Given the description of an element on the screen output the (x, y) to click on. 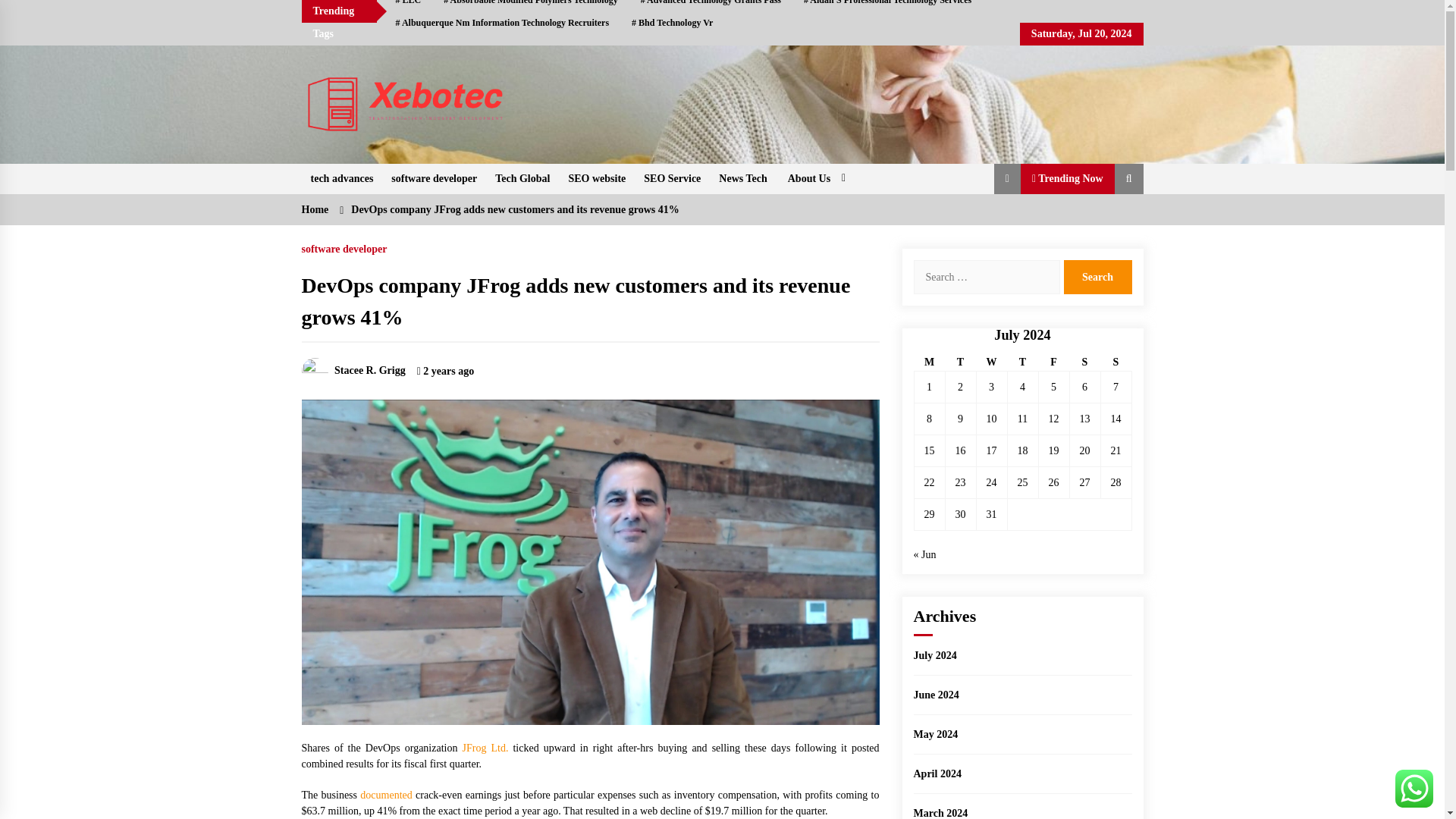
Albuquerque Nm Information Technology Recruiters (502, 22)
About Us (814, 178)
Tuesday (959, 361)
SEO Service (672, 178)
Bhd Technology Vr (671, 22)
tech advances (341, 178)
LLC (408, 5)
Monday (929, 361)
Wednesday (991, 361)
Search (1096, 277)
Tech Global (522, 178)
Advanced Technology Grants Pass (710, 5)
Friday (1053, 361)
Sunday (1115, 361)
Aidan'S Professional Technology Services (887, 5)
